Given the description of an element on the screen output the (x, y) to click on. 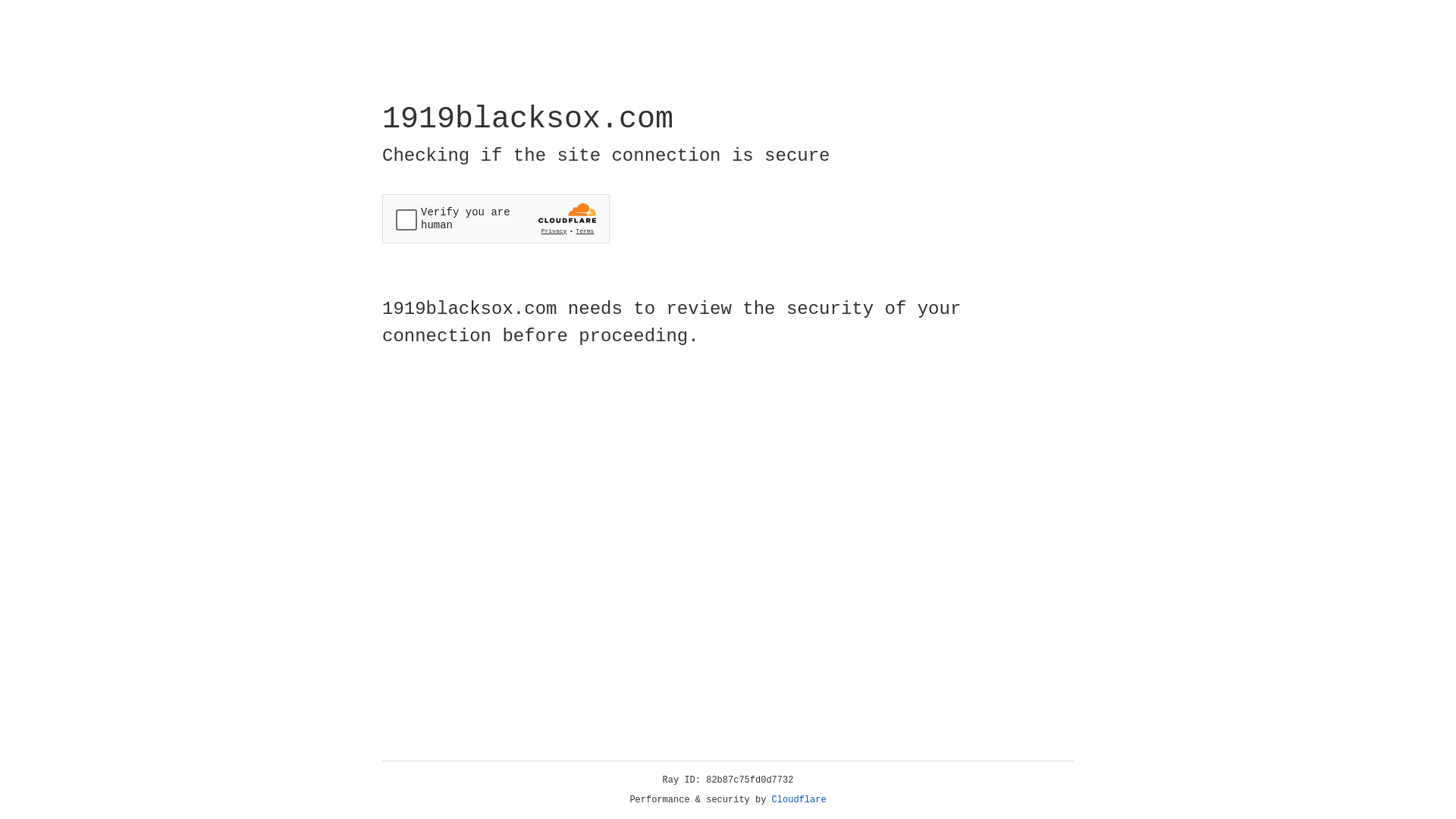
Widget containing a Cloudflare security challenge Element type: hover (495, 218)
Cloudflare Element type: text (798, 799)
